Given the description of an element on the screen output the (x, y) to click on. 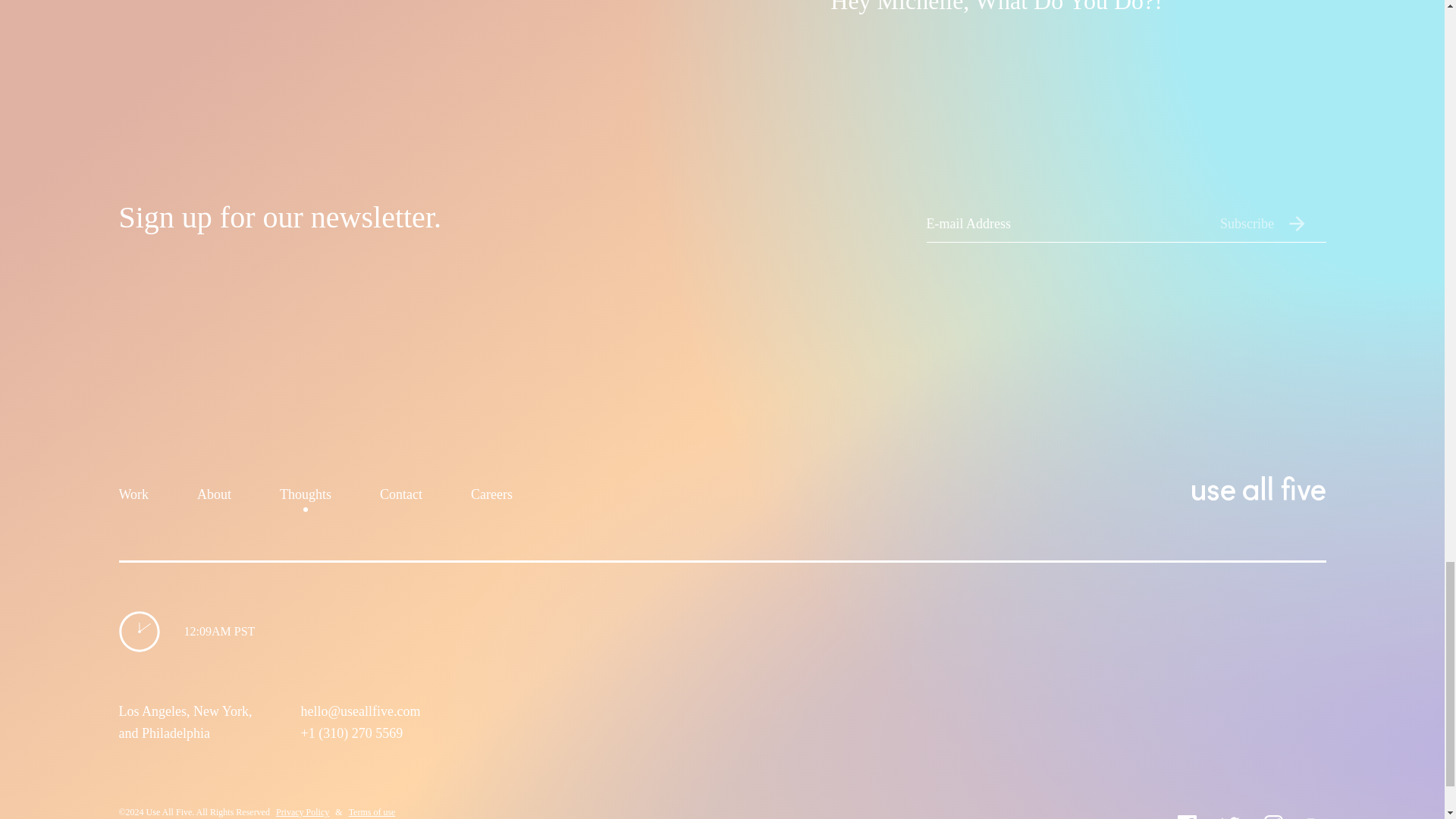
About (213, 497)
Subscribe (1272, 222)
Terms of use (372, 811)
Thoughts (305, 497)
Work (132, 497)
Contact (401, 497)
Careers (491, 497)
Privacy Policy (302, 811)
